Given the description of an element on the screen output the (x, y) to click on. 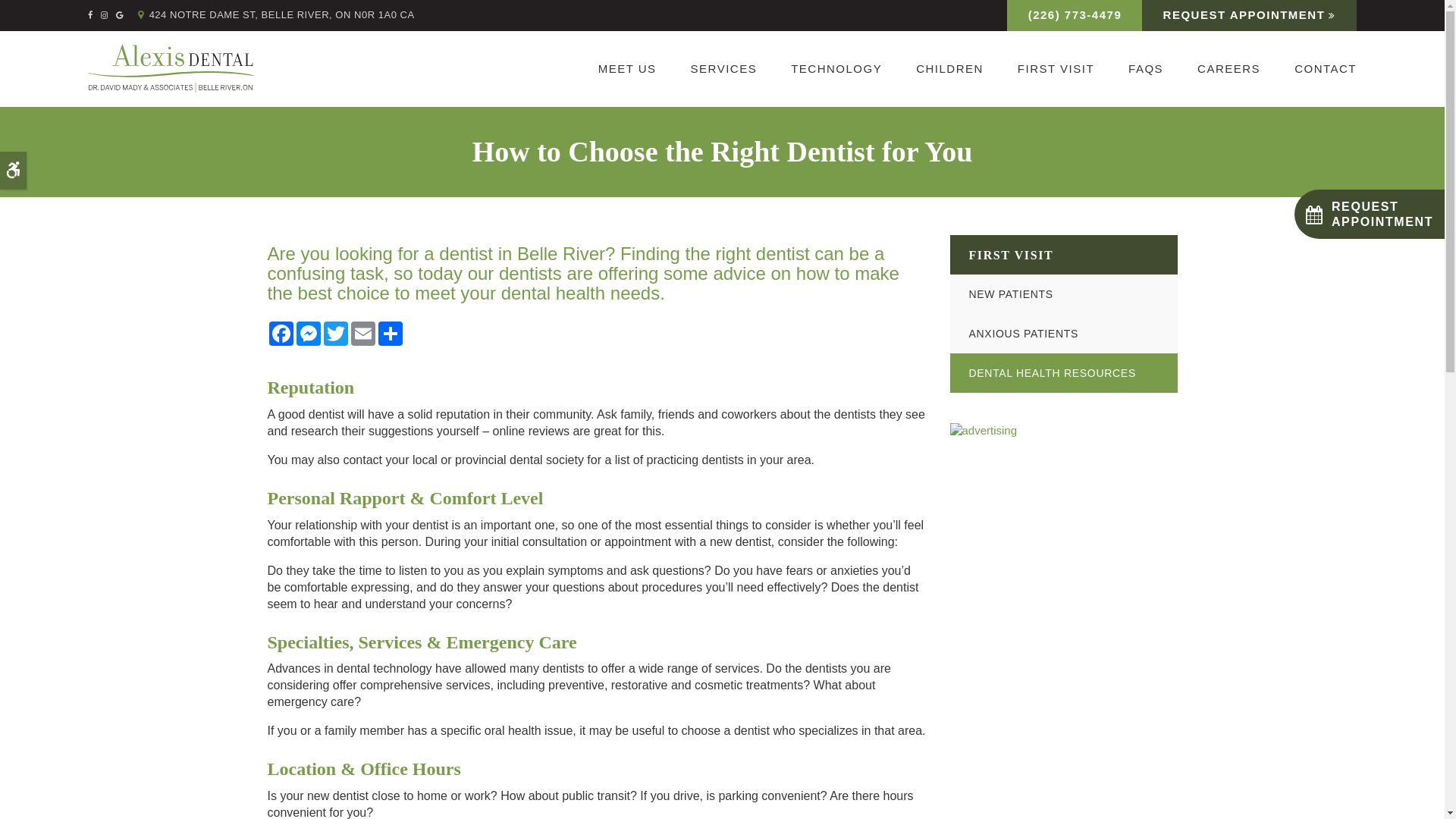
REQUEST
APPOINTMENT Element type: text (1369, 213)
Accessible Version Element type: text (13, 170)
TECHNOLOGY Element type: text (836, 68)
FIRST VISIT Element type: text (1055, 68)
REQUEST APPOINTMENT Element type: text (1249, 15)
Messenger Element type: text (307, 333)
(226) 773-4479 Element type: text (1074, 15)
CHILDREN Element type: text (950, 68)
FAQS Element type: text (1145, 68)
CONTACT Element type: text (1316, 68)
DENTAL HEALTH RESOURCES Element type: text (1062, 372)
Email Element type: text (362, 333)
MEET US Element type: text (626, 68)
ANXIOUS PATIENTS Element type: text (1062, 333)
Facebook Element type: text (280, 333)
Share Element type: text (389, 333)
Twitter Element type: text (334, 333)
NEW PATIENTS Element type: text (1062, 293)
CAREERS Element type: text (1228, 68)
SERVICES Element type: text (723, 68)
